Given the description of an element on the screen output the (x, y) to click on. 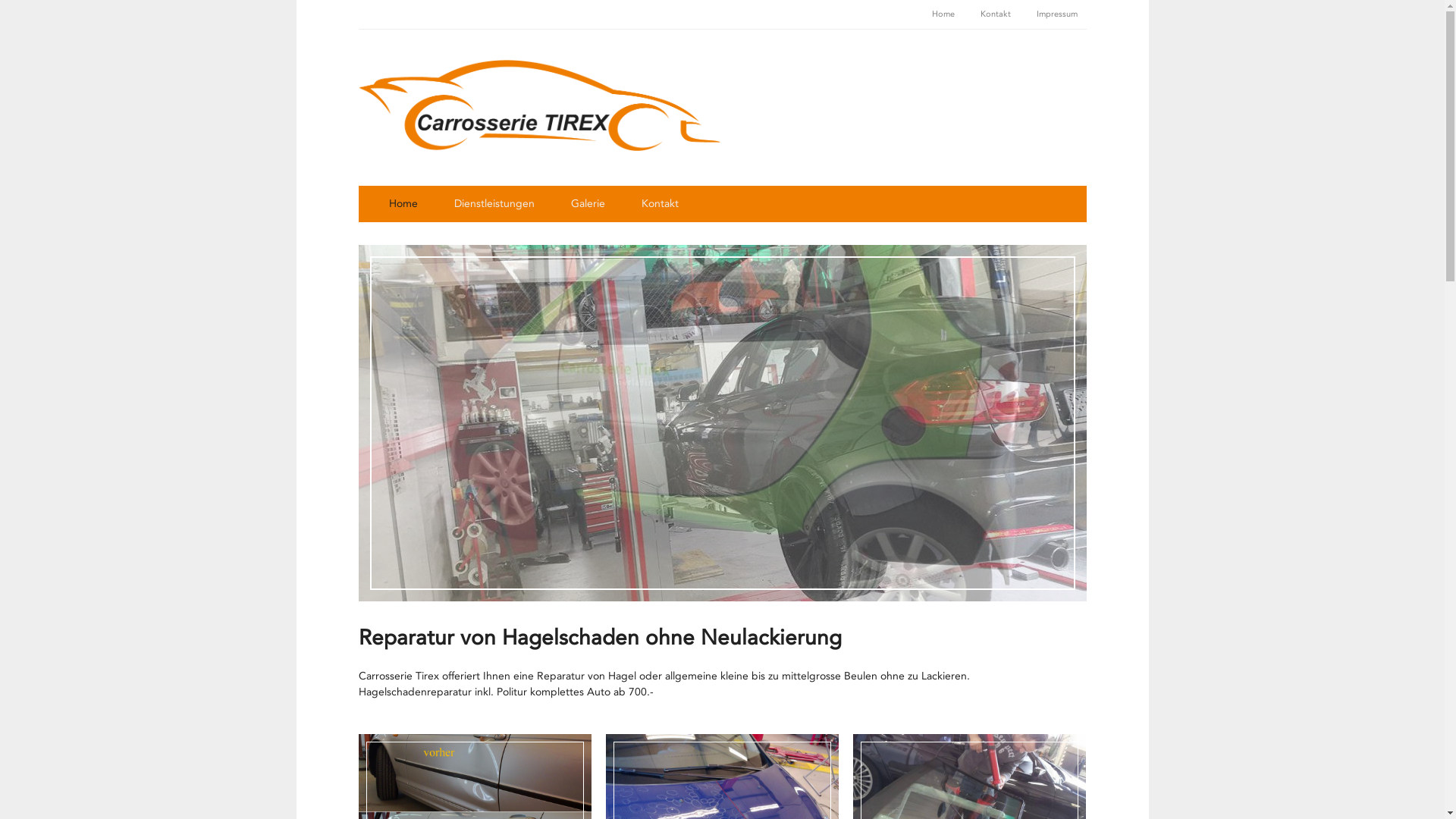
Home Element type: text (402, 203)
Kontakt Element type: text (994, 13)
Dienstleistungen Element type: text (493, 203)
Kontakt Element type: text (659, 203)
Impressum Element type: text (1055, 13)
Home Element type: text (942, 13)
Galerie Element type: text (587, 203)
